Given the description of an element on the screen output the (x, y) to click on. 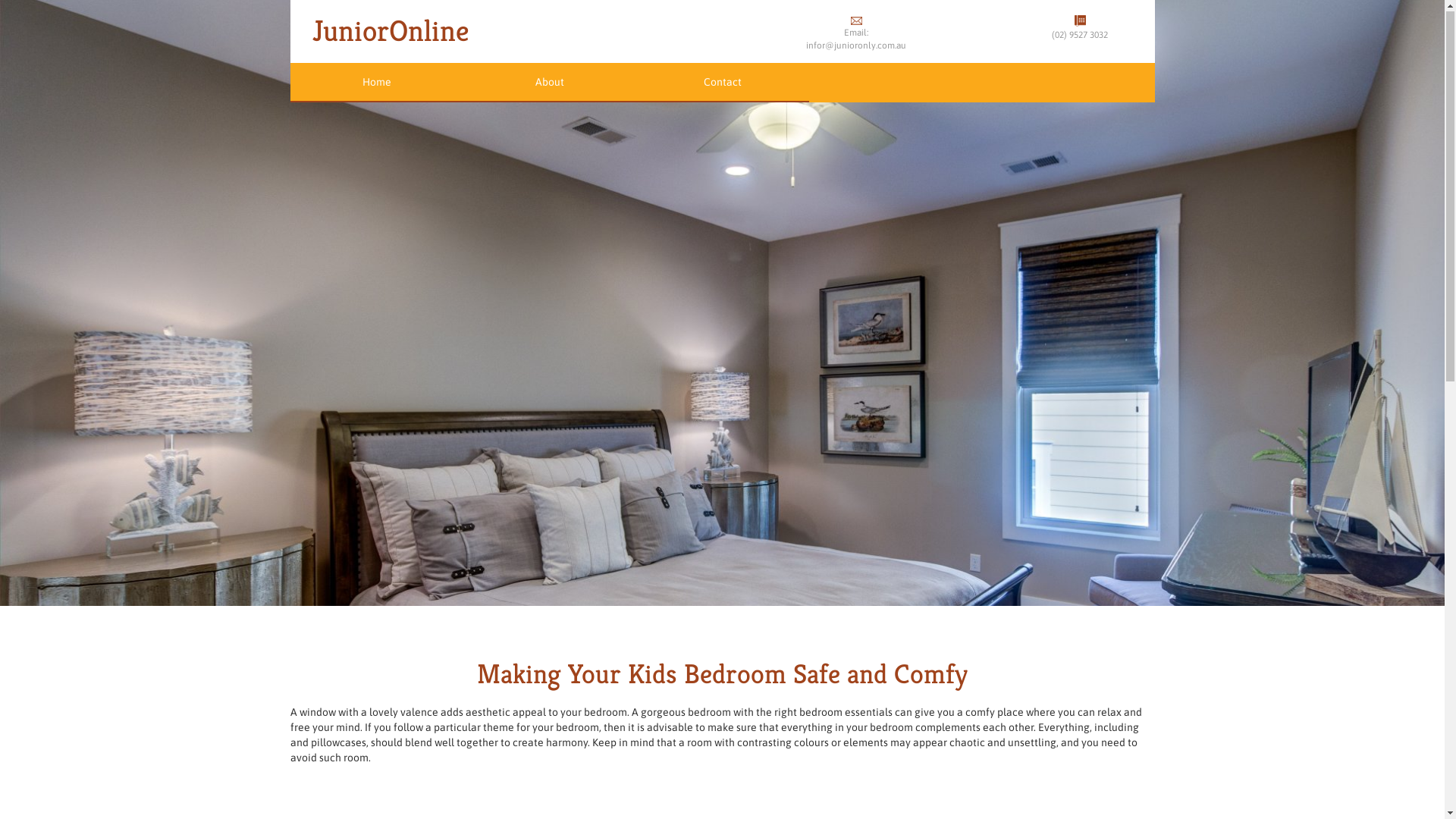
Contact Element type: text (721, 83)
Home Element type: text (375, 83)
About Element type: text (548, 83)
JuniorOnline Element type: text (390, 37)
infor@junioronly.com.au Element type: text (856, 45)
